Given the description of an element on the screen output the (x, y) to click on. 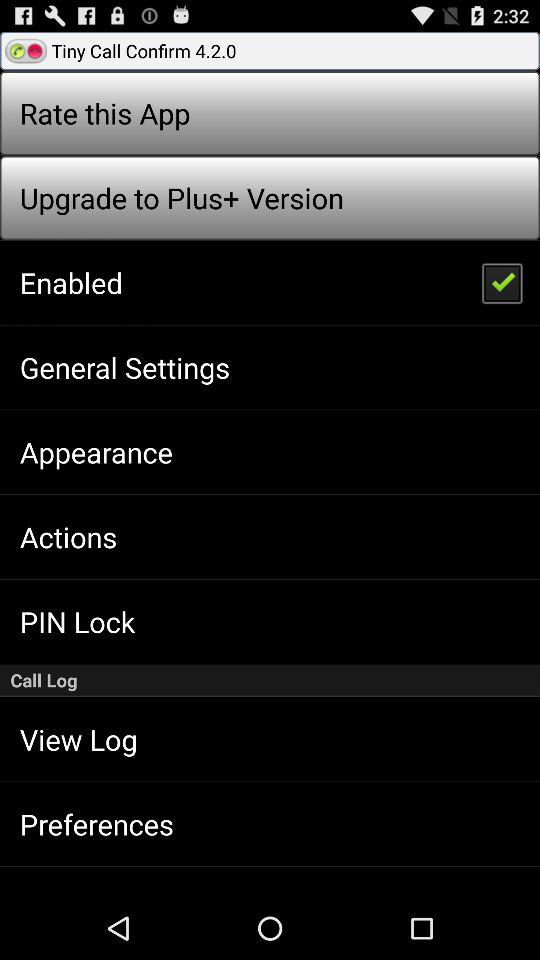
launch the app below the tiny call confirm icon (501, 282)
